Given the description of an element on the screen output the (x, y) to click on. 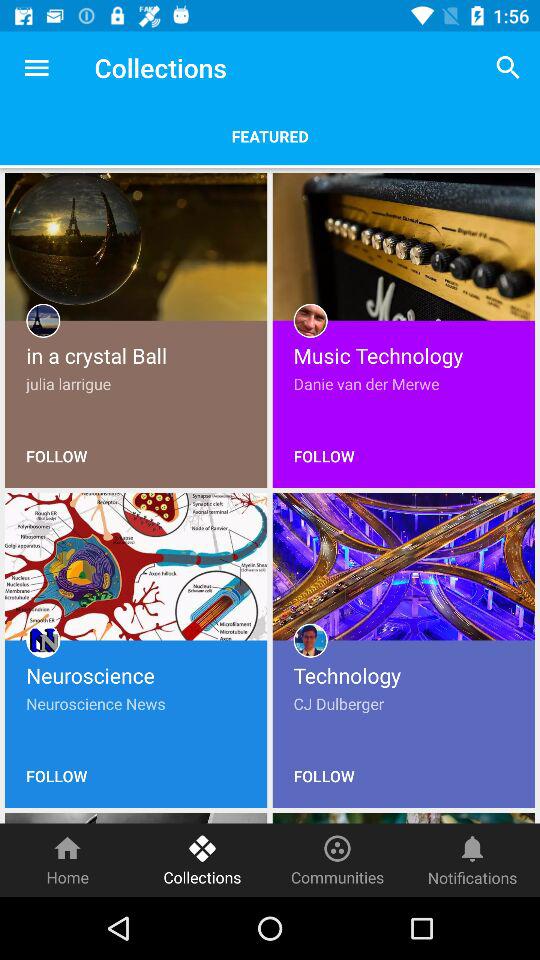
choose item next to the notifications (337, 859)
